Given the description of an element on the screen output the (x, y) to click on. 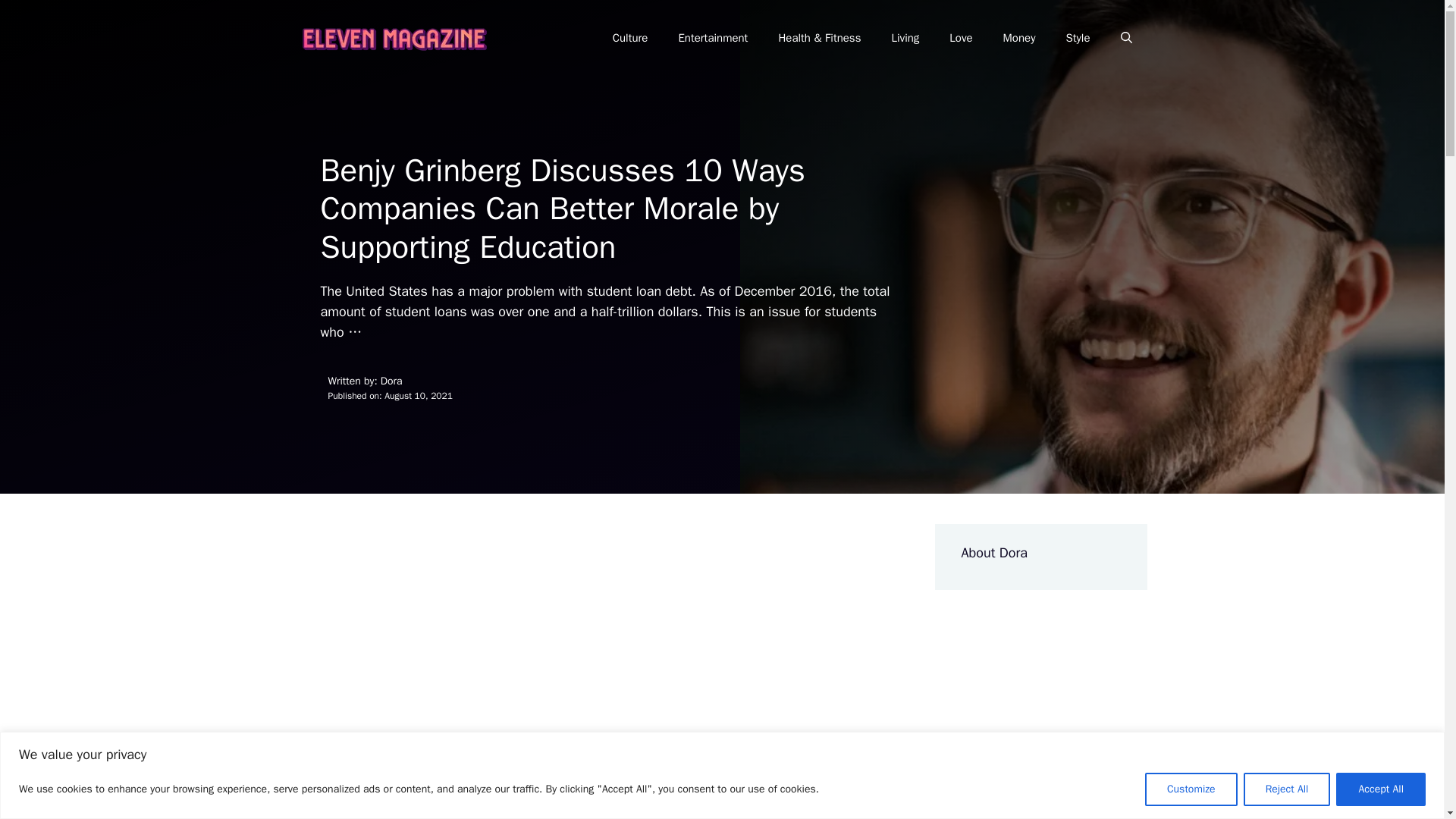
Accept All (1380, 788)
Money (1019, 37)
Reject All (1286, 788)
Benjy Grinberg (620, 804)
Living (905, 37)
Style (1077, 37)
Customize (1190, 788)
Love (960, 37)
Culture (629, 37)
Entertainment (712, 37)
